Given the description of an element on the screen output the (x, y) to click on. 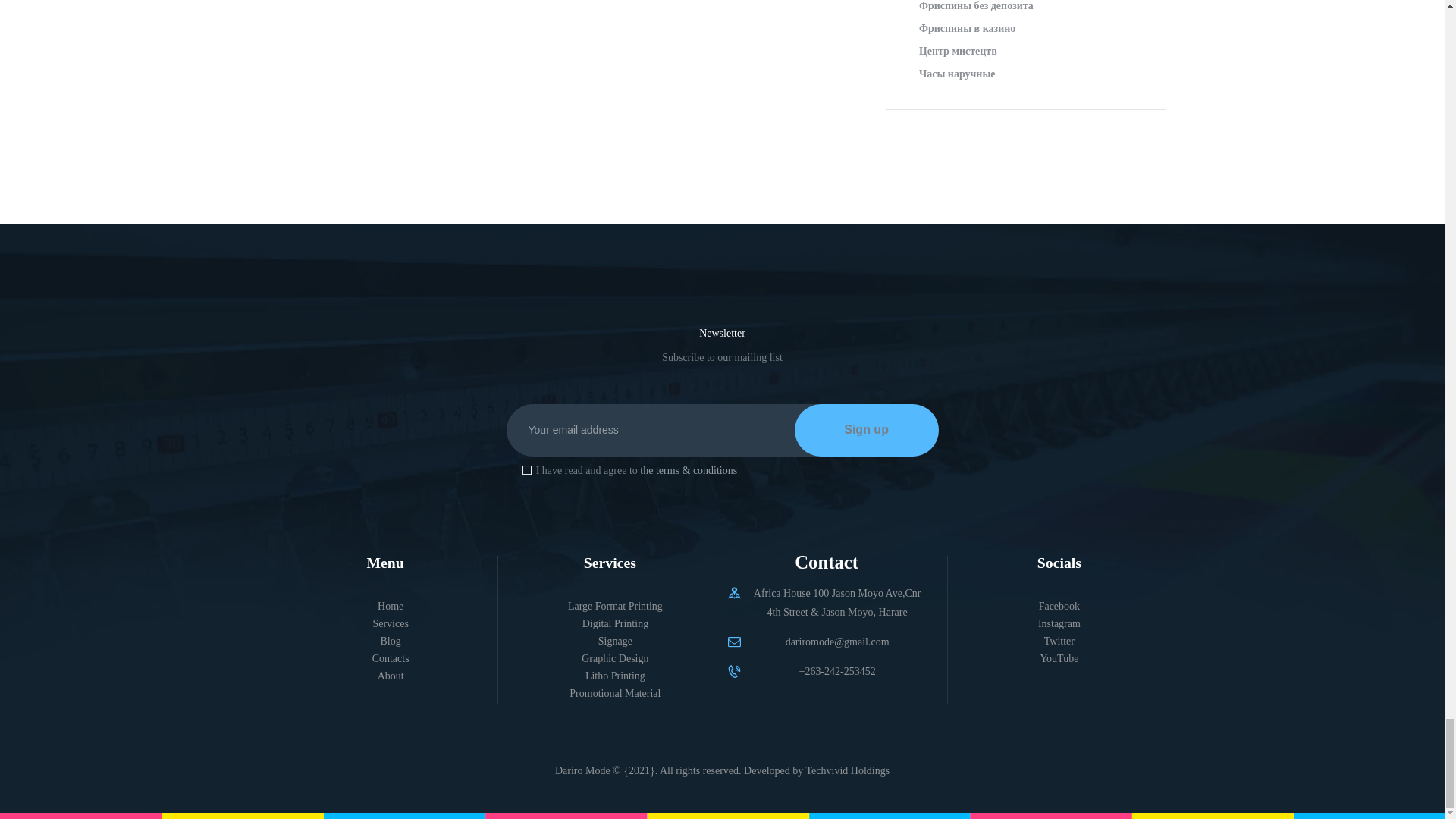
Sign up (866, 430)
